Given the description of an element on the screen output the (x, y) to click on. 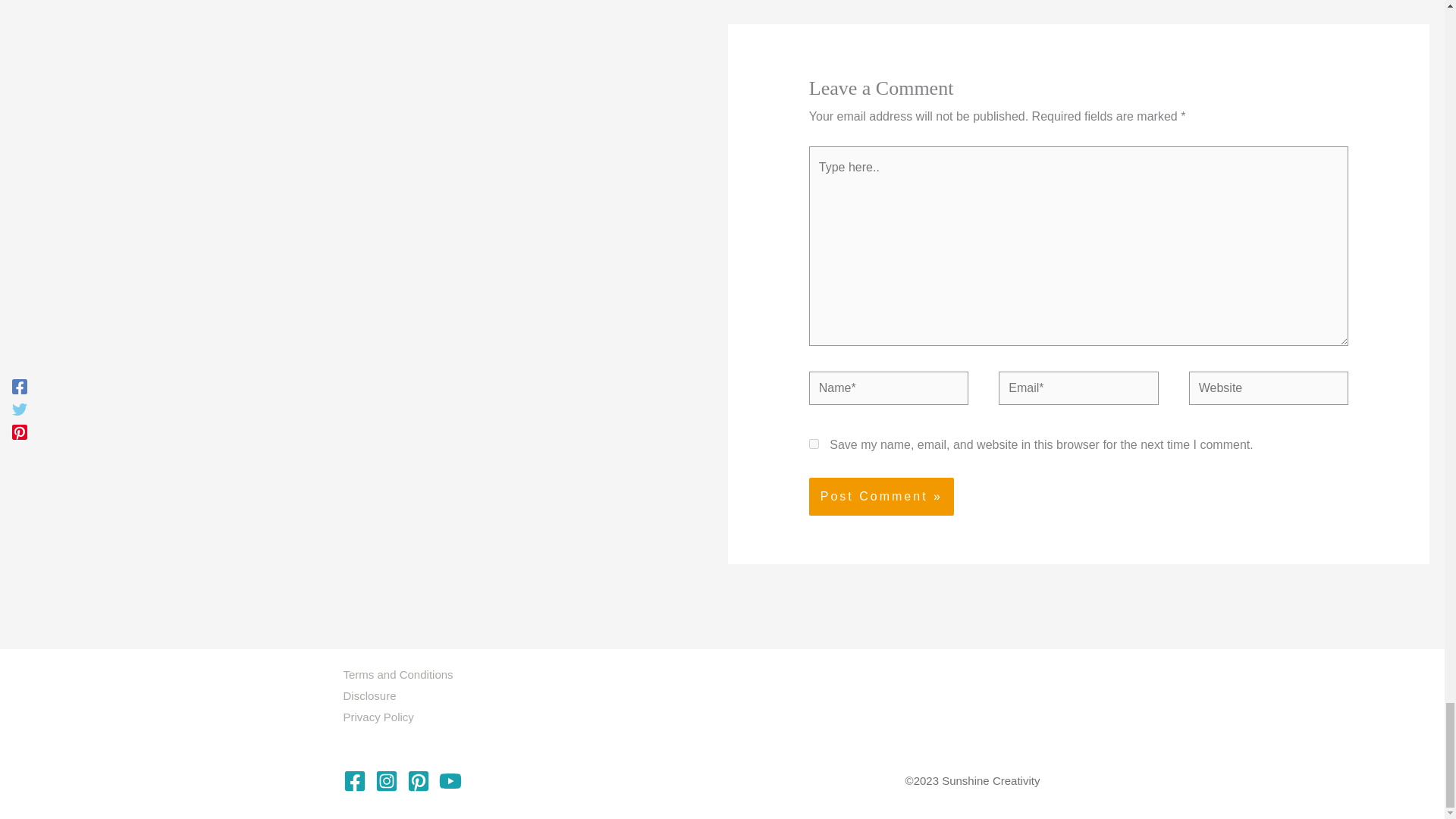
yes (813, 443)
